Given the description of an element on the screen output the (x, y) to click on. 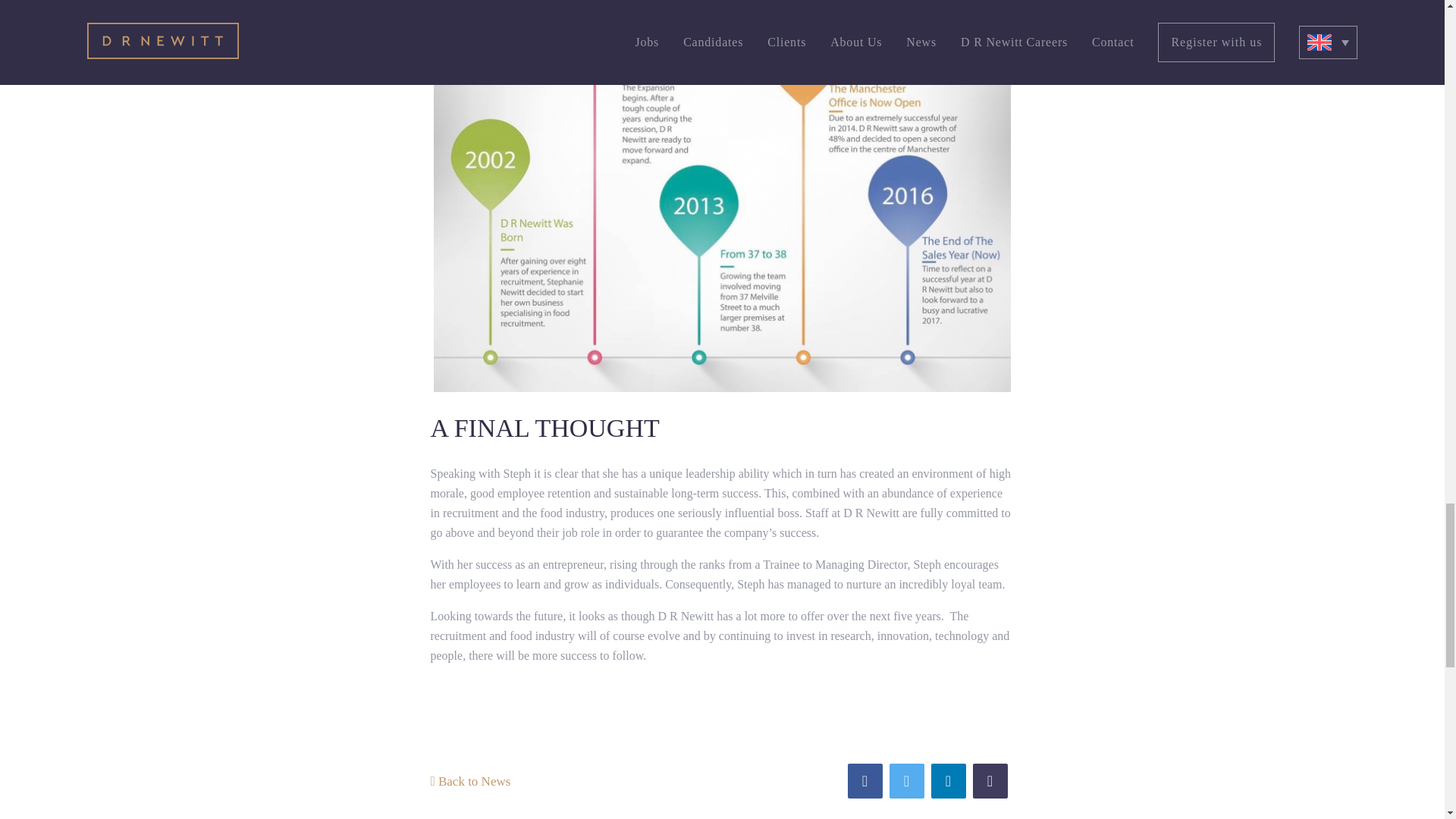
Back to News (470, 781)
